Given the description of an element on the screen output the (x, y) to click on. 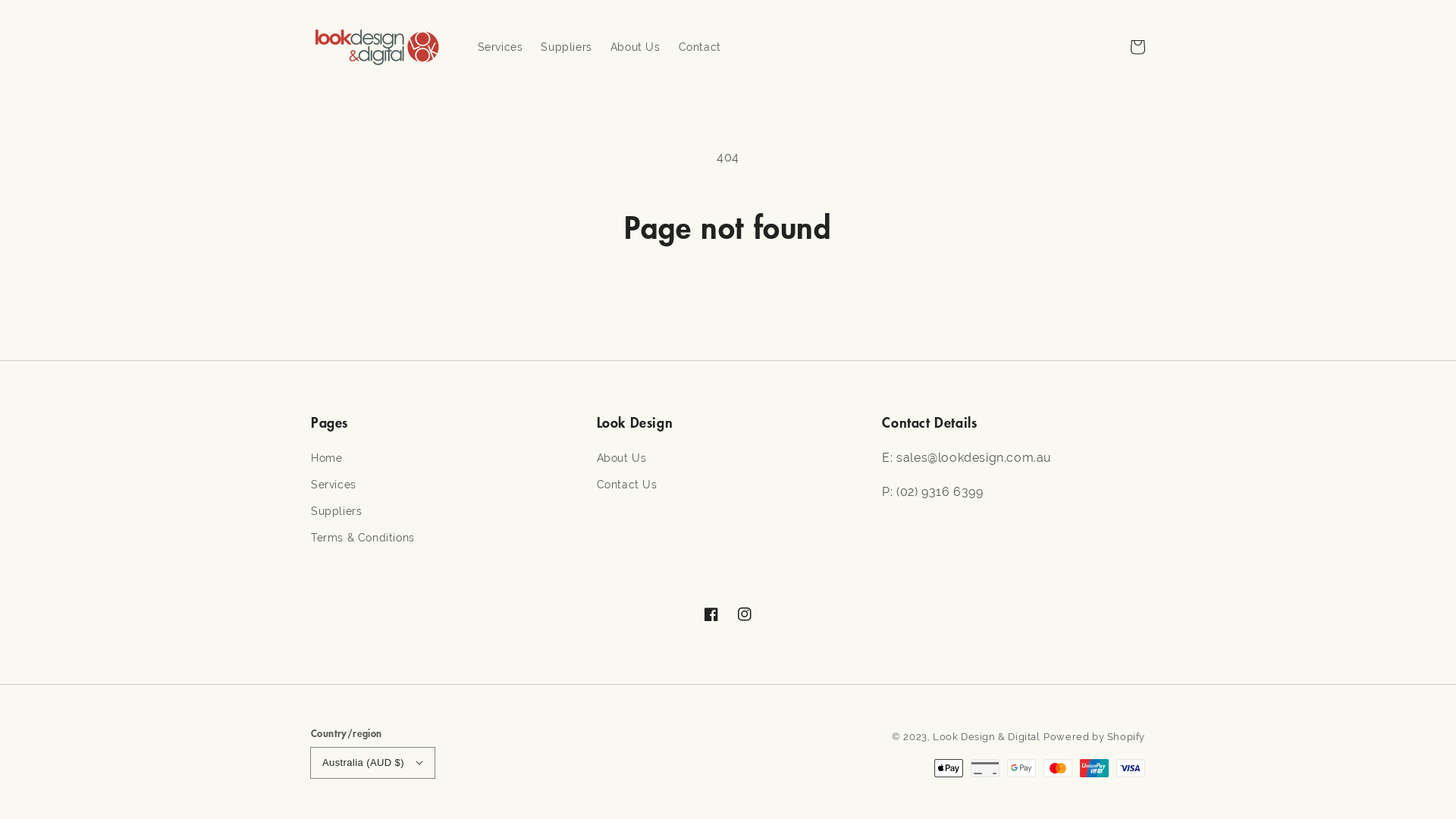
About Us Element type: text (635, 46)
Instagram Element type: text (744, 613)
Contact Us Element type: text (626, 484)
Look Design & Digital Element type: text (986, 736)
Contact Element type: text (699, 46)
Services Element type: text (333, 484)
Cart Element type: text (1137, 46)
Terms & Conditions Element type: text (362, 537)
Services Element type: text (500, 46)
Facebook Element type: text (711, 613)
Home Element type: text (326, 459)
Powered by Shopify Element type: text (1094, 736)
Suppliers Element type: text (565, 46)
Australia (AUD $) Element type: text (372, 762)
Suppliers Element type: text (335, 511)
About Us Element type: text (621, 459)
